Given the description of an element on the screen output the (x, y) to click on. 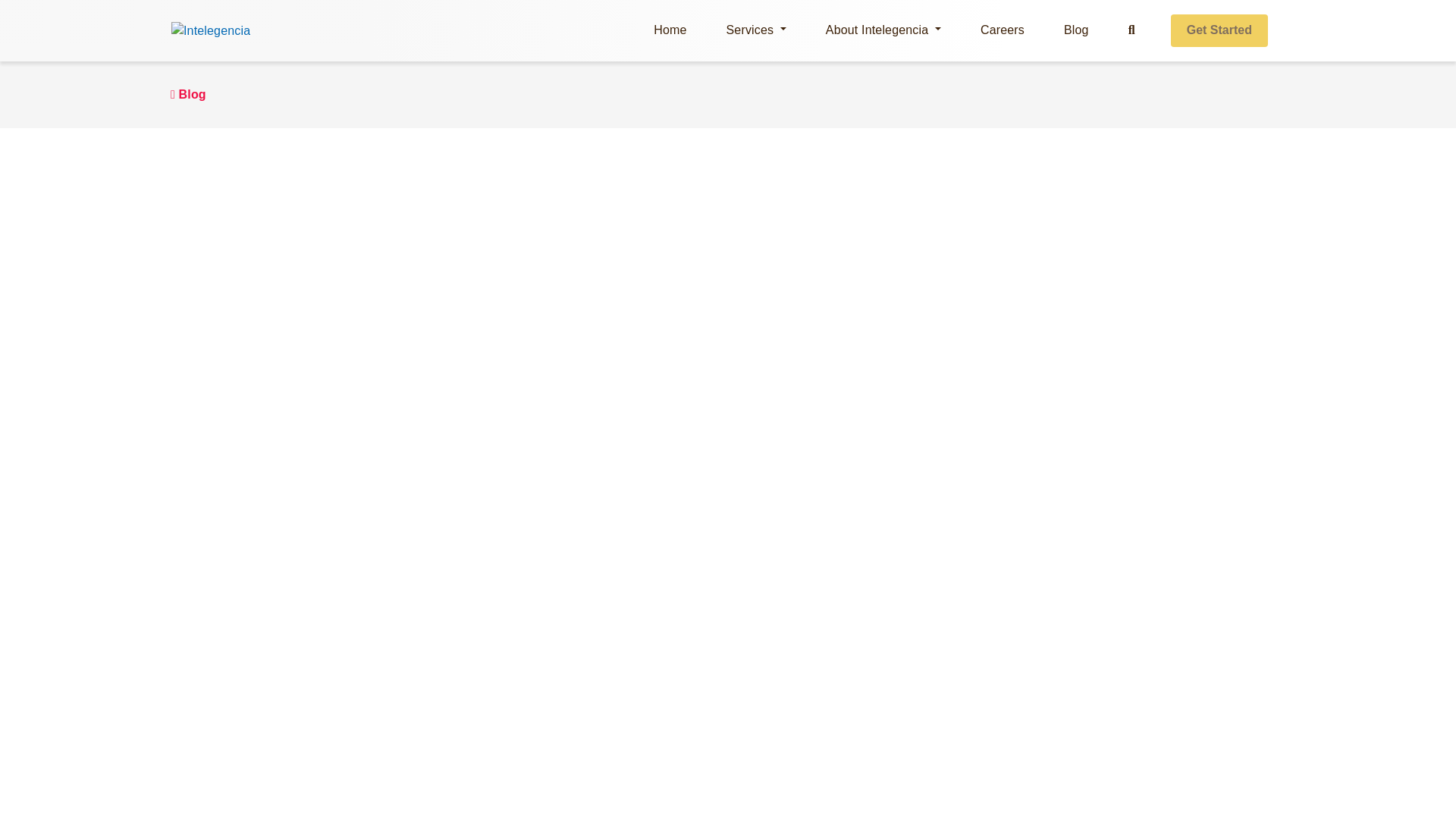
Blog (188, 93)
Get Started (1219, 30)
Careers (1001, 31)
Blog (1076, 31)
Services (756, 31)
Home (669, 31)
About Intelegencia (882, 31)
